Given the description of an element on the screen output the (x, y) to click on. 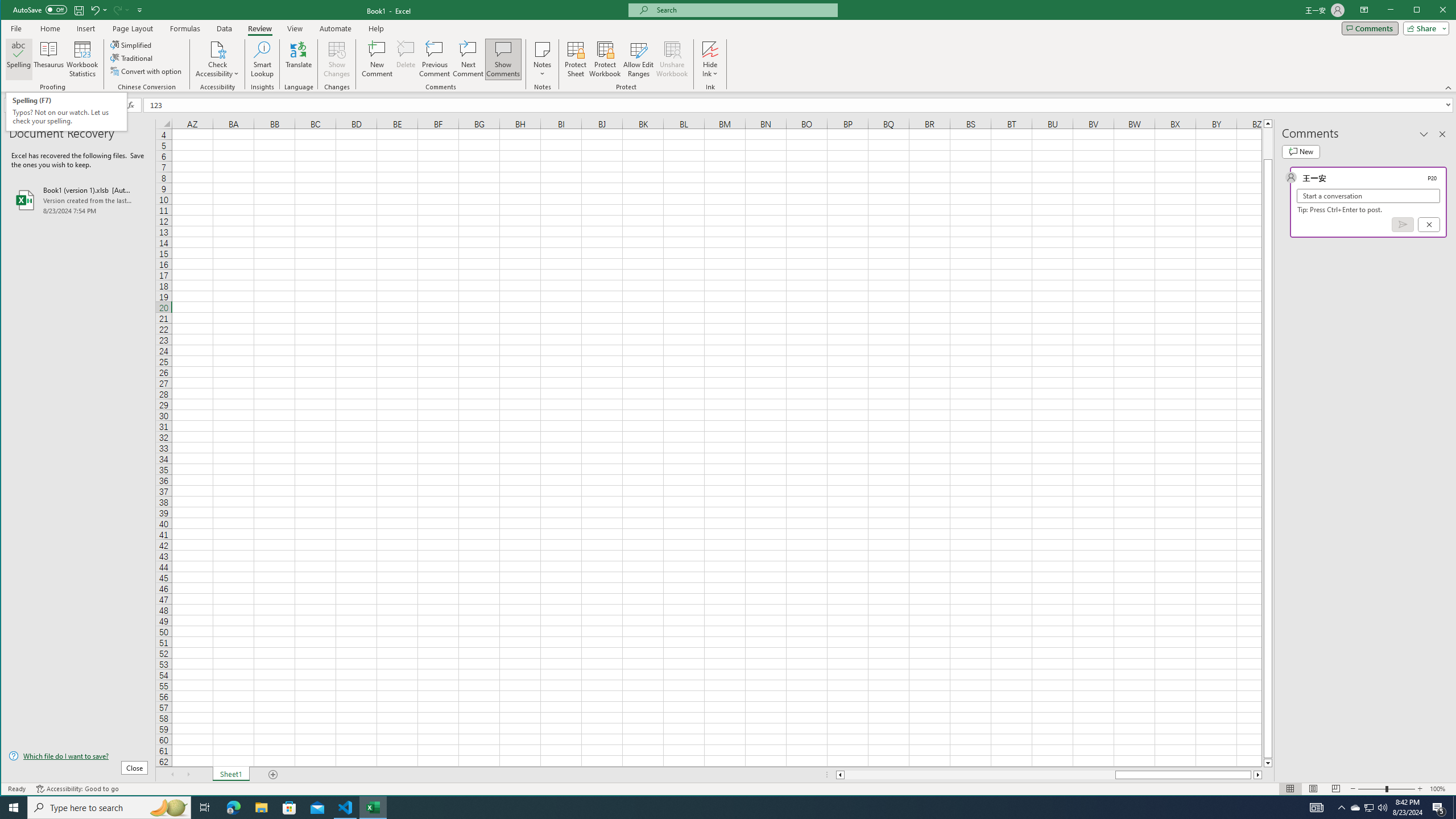
Next Comment (467, 59)
File Explorer (261, 807)
Notes (541, 59)
Maximize (1432, 11)
Smart Lookup (261, 59)
Post comment (Ctrl + Enter) (1402, 224)
